Given the description of an element on the screen output the (x, y) to click on. 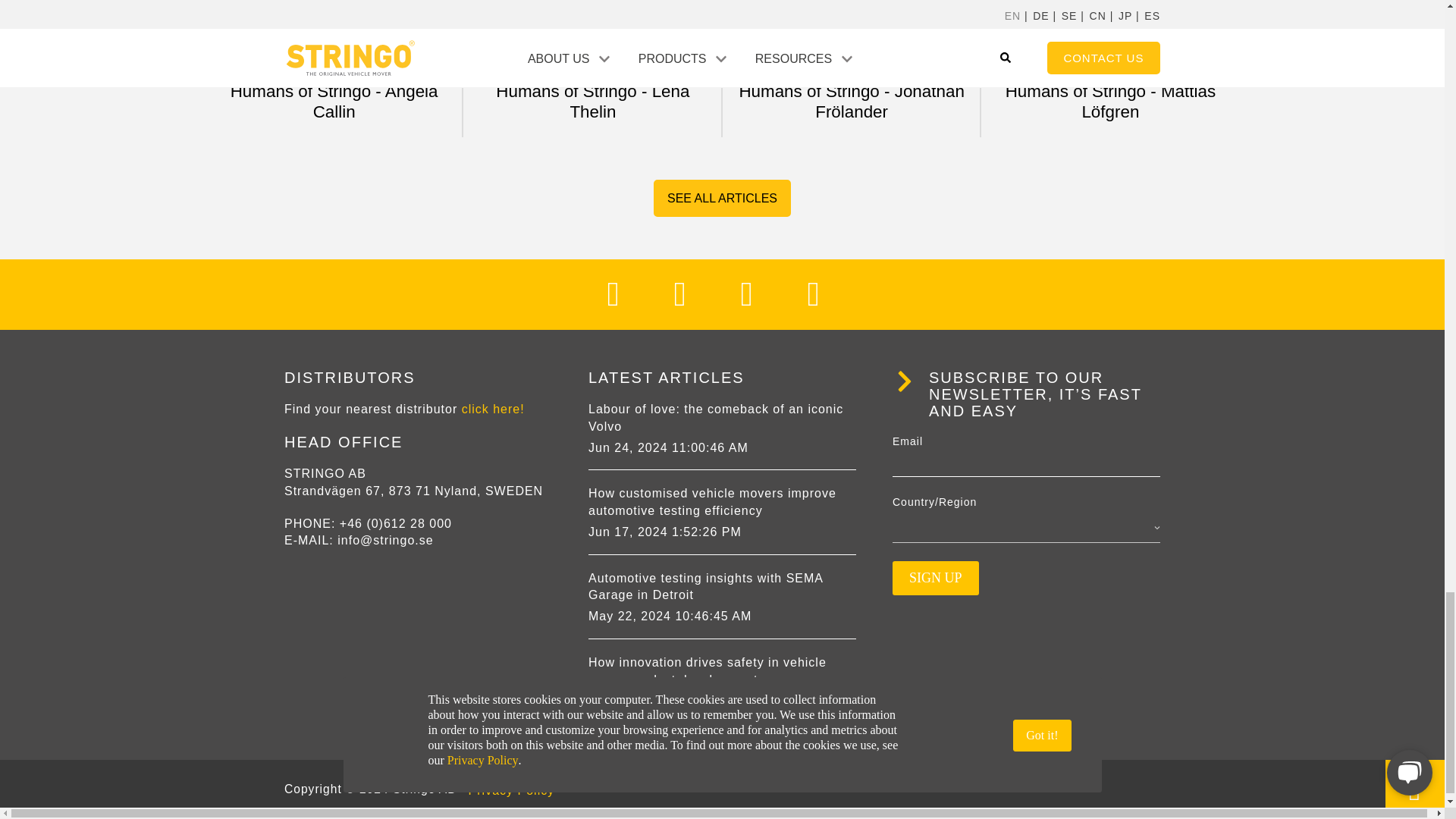
Sign up (935, 578)
